Given the description of an element on the screen output the (x, y) to click on. 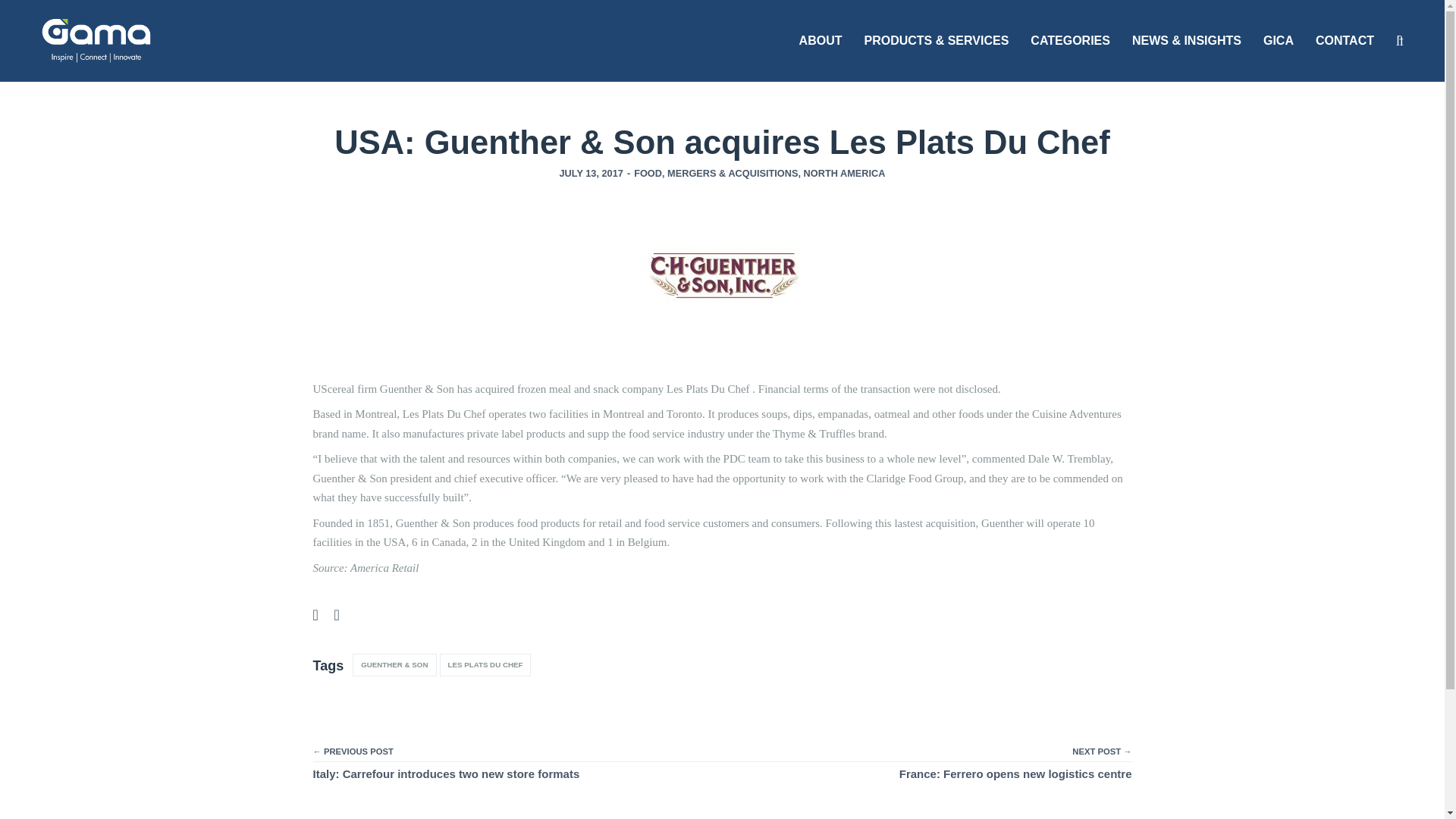
CATEGORIES (1070, 40)
